Given the description of an element on the screen output the (x, y) to click on. 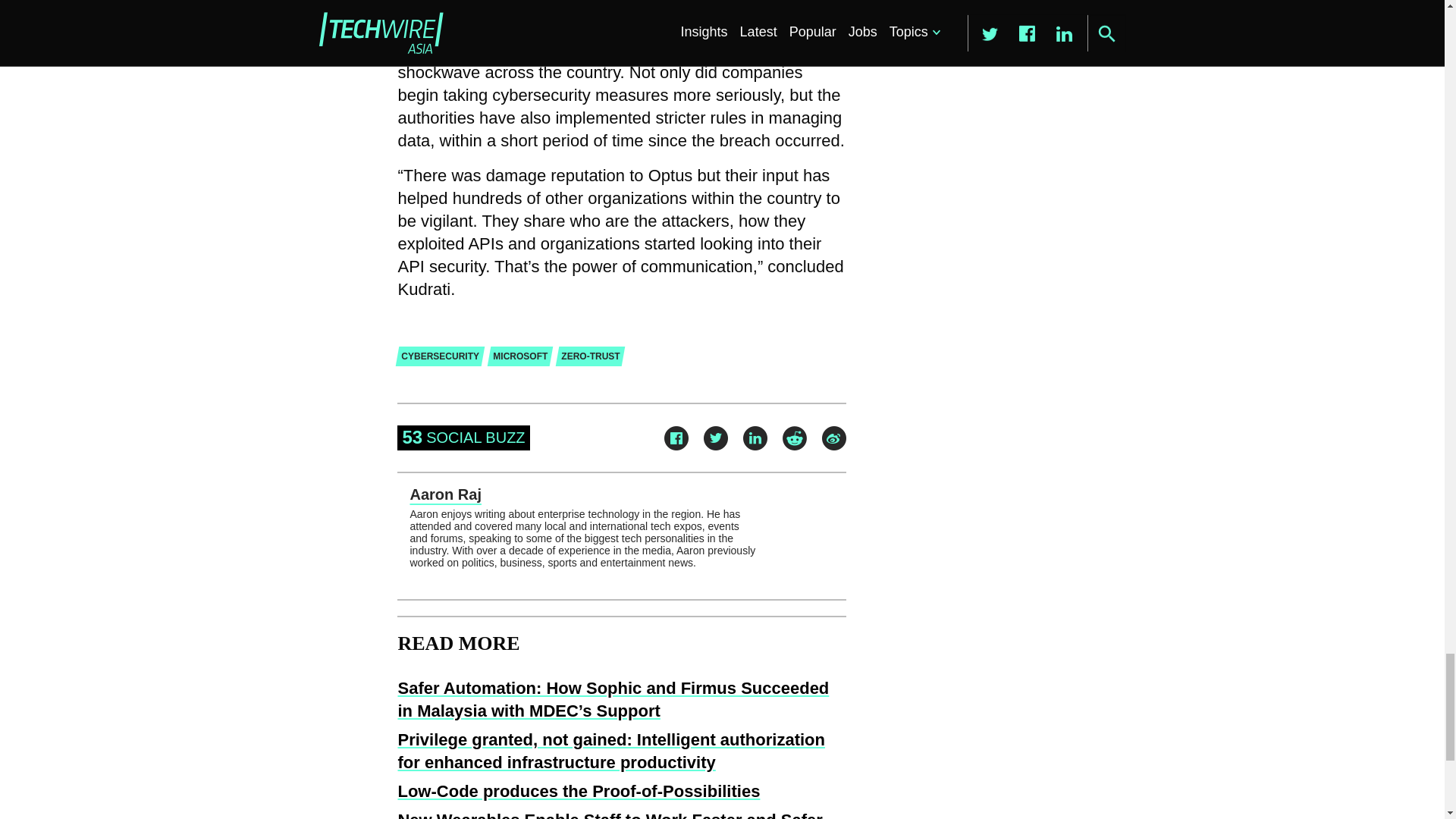
Posts by Aaron Raj (444, 494)
